Given the description of an element on the screen output the (x, y) to click on. 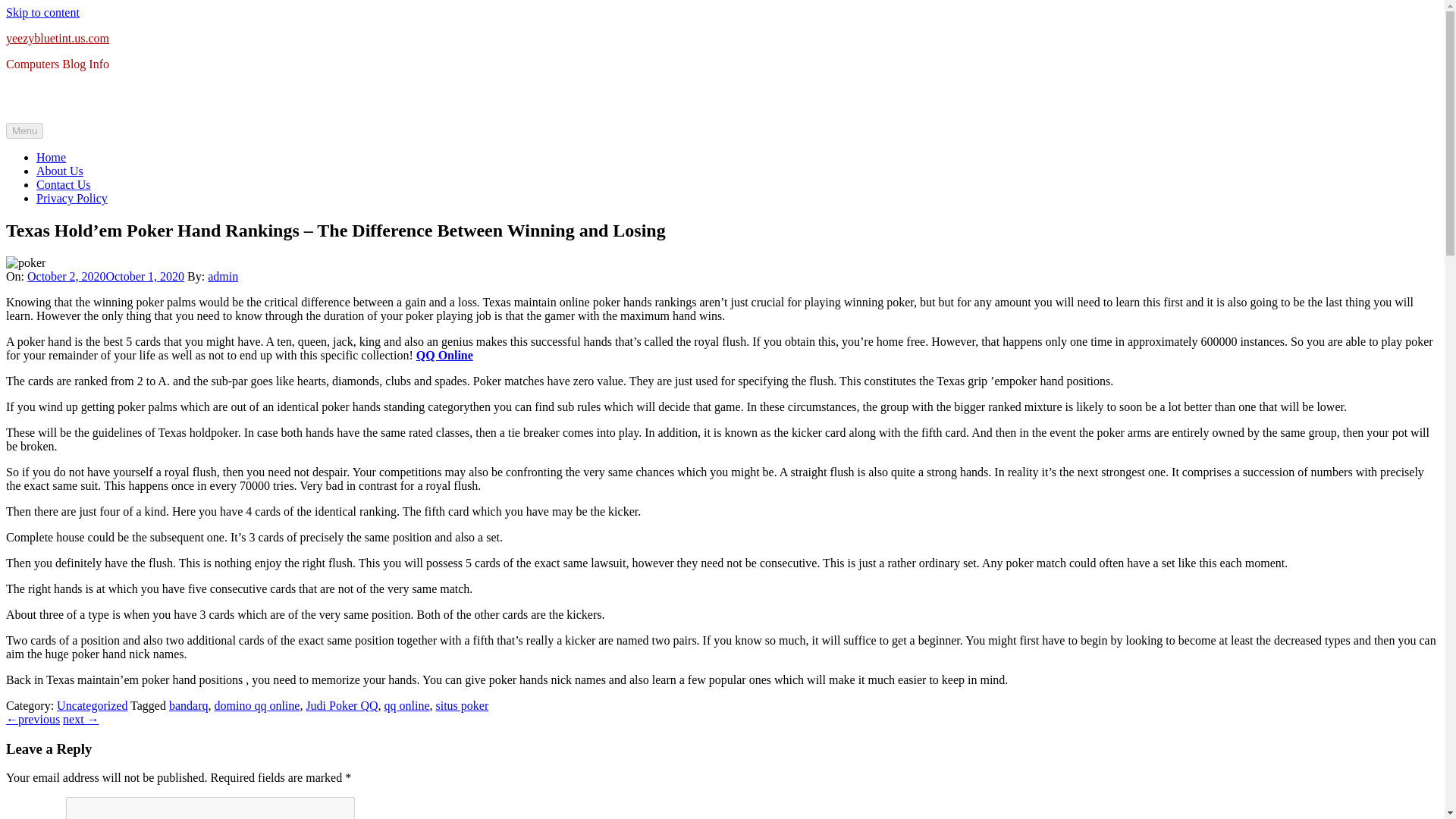
qq online (406, 705)
Menu (24, 130)
bandarq (188, 705)
October 2, 2020October 1, 2020 (105, 276)
domino qq online (256, 705)
yeezybluetint.us.com (57, 38)
Judi Poker QQ (341, 705)
Uncategorized (92, 705)
Skip to content (42, 11)
QQ Online (444, 354)
Privacy Policy (71, 197)
situs poker (461, 705)
Home (50, 156)
About Us (59, 170)
admin (223, 276)
